Given the description of an element on the screen output the (x, y) to click on. 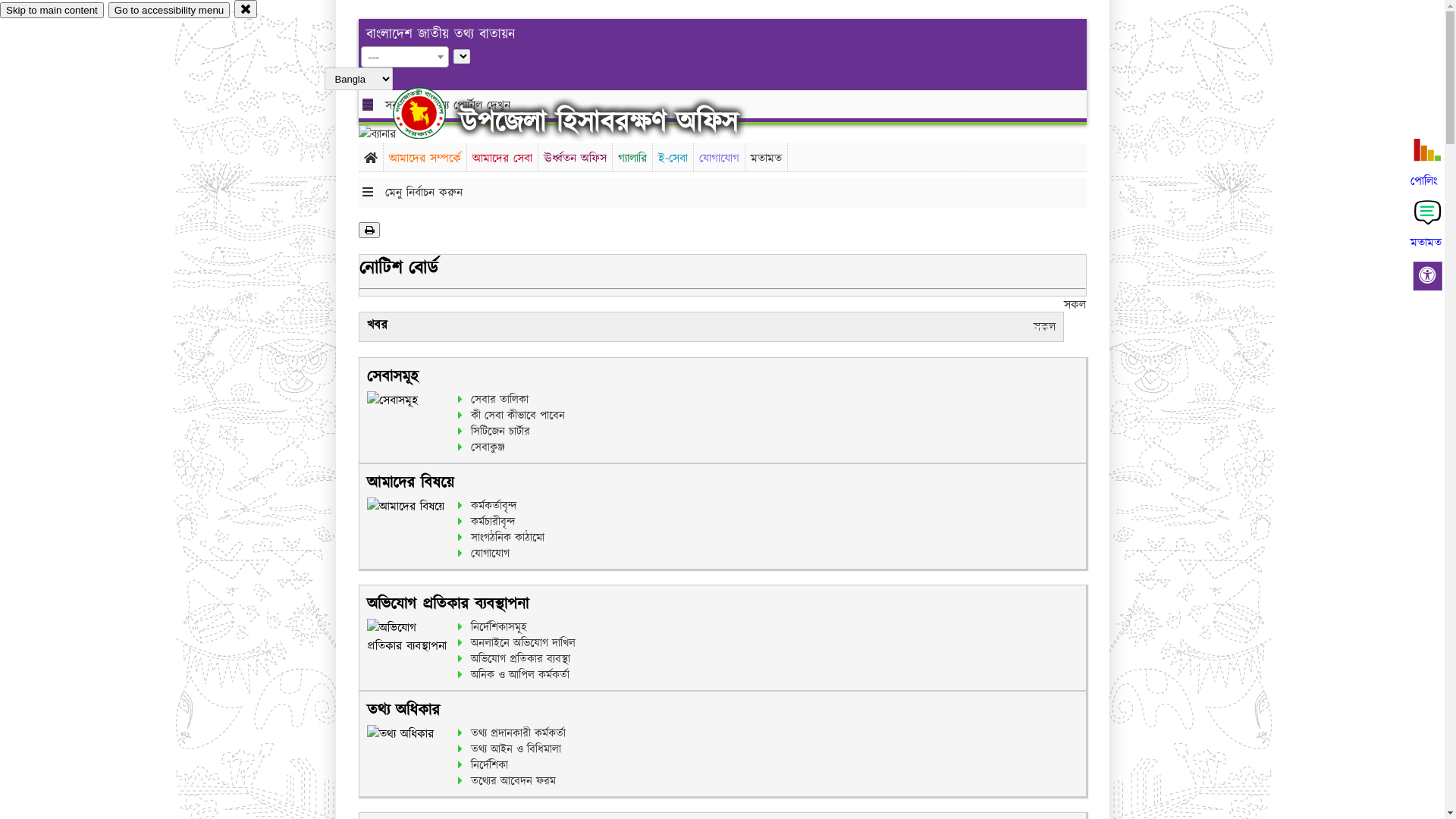
Go to accessibility menu Element type: text (168, 10)
Skip to main content Element type: text (51, 10)

                
             Element type: hover (431, 112)
close Element type: hover (245, 9)
